Given the description of an element on the screen output the (x, y) to click on. 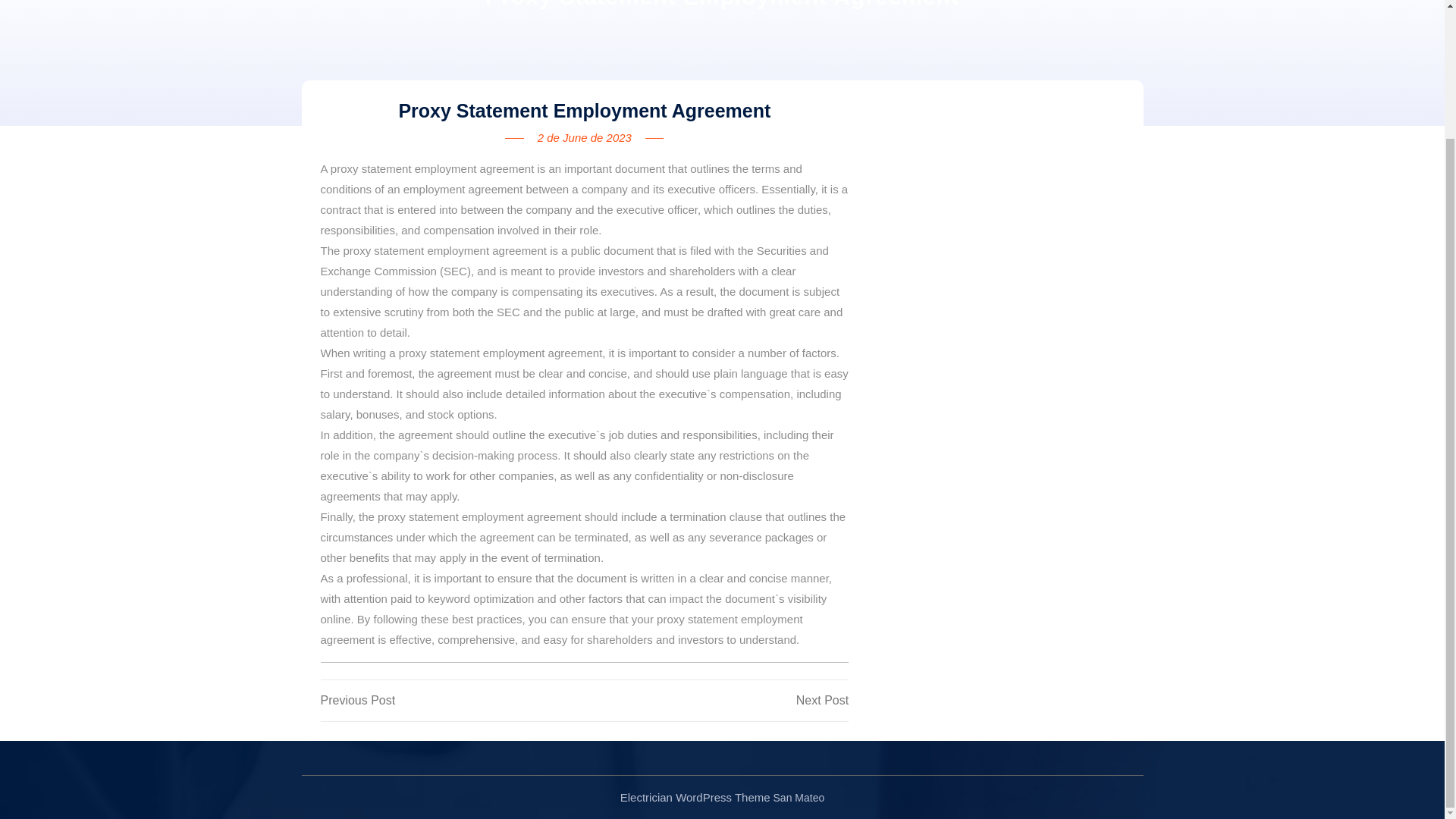
Electrician WordPress Theme (451, 700)
